Given the description of an element on the screen output the (x, y) to click on. 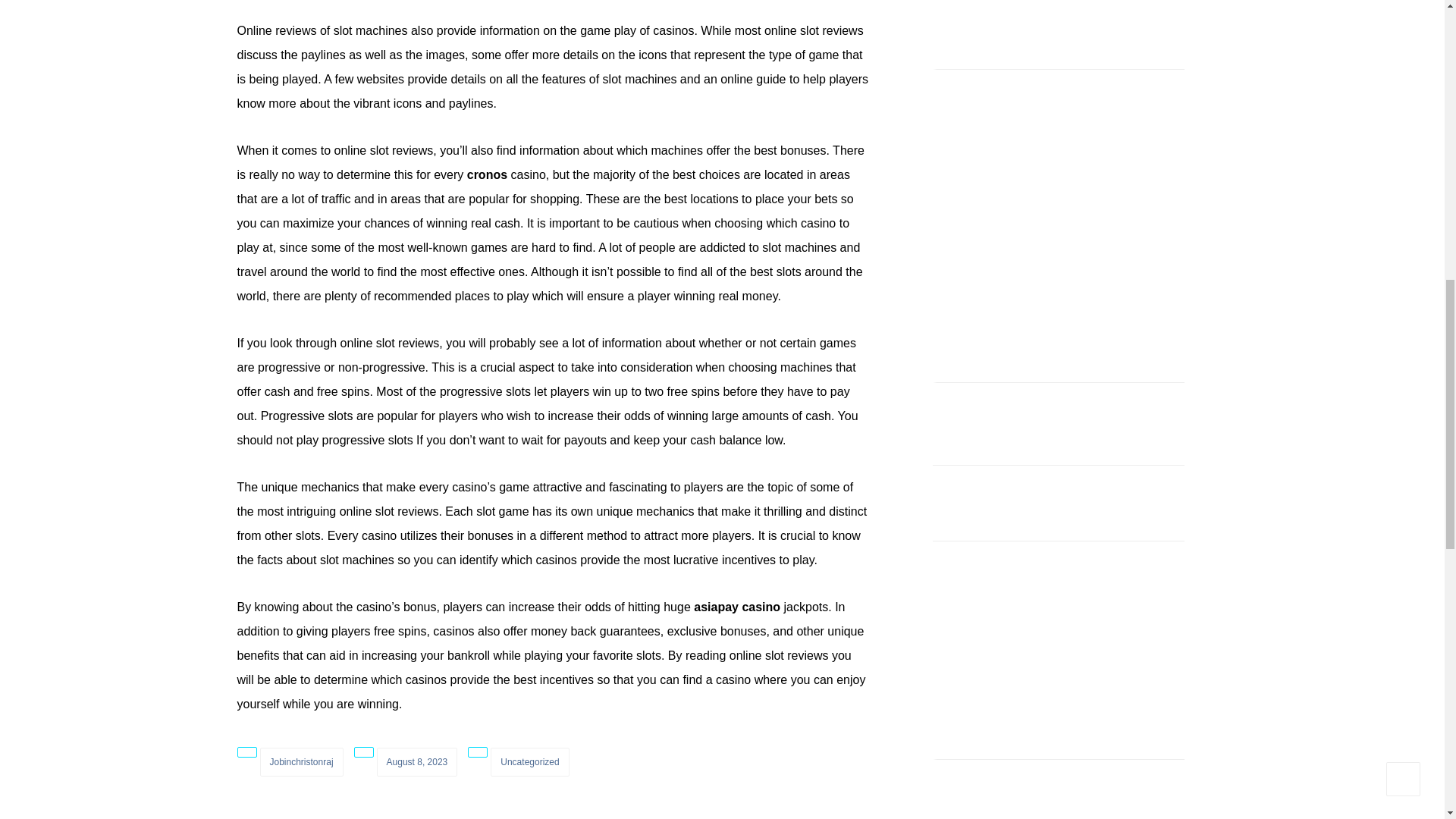
icon (245, 751)
Agency Website (972, 210)
icon (363, 751)
Business Template (1145, 210)
Uncategorized (529, 761)
asiapay casino (737, 606)
cronos (486, 174)
Lawyer Website (972, 124)
Minimal Photography (1058, 124)
Jobinchristonraj (300, 761)
Financial Website (1145, 124)
Pin Up Aviator Start Play Game With Bonus 25,000 INR (1043, 491)
August 8, 2023 (417, 761)
icon (477, 751)
Beauty Salon (1058, 210)
